Given the description of an element on the screen output the (x, y) to click on. 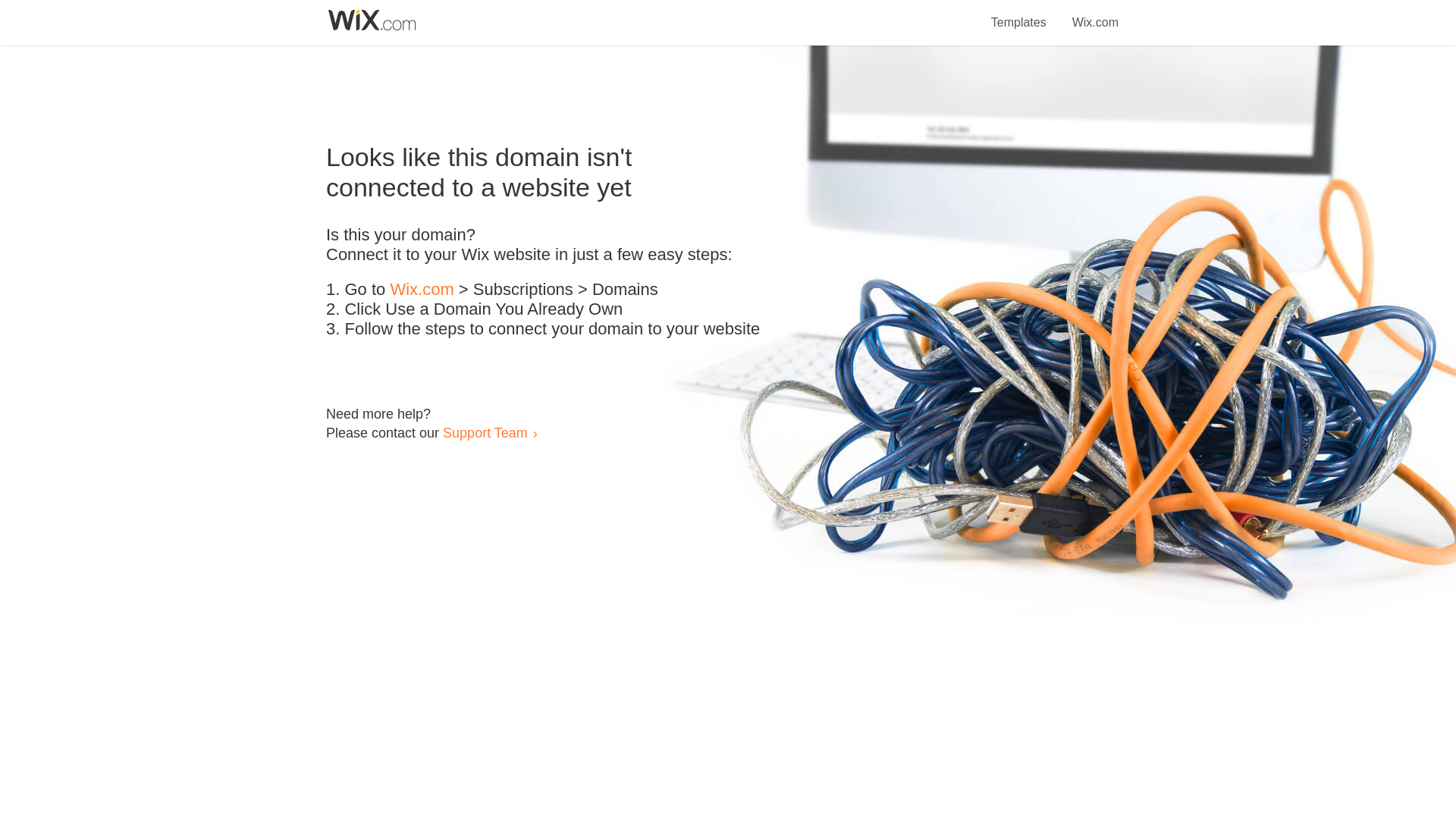
Templates (1018, 14)
Wix.com (1095, 14)
Wix.com (421, 289)
Support Team (484, 432)
